Given the description of an element on the screen output the (x, y) to click on. 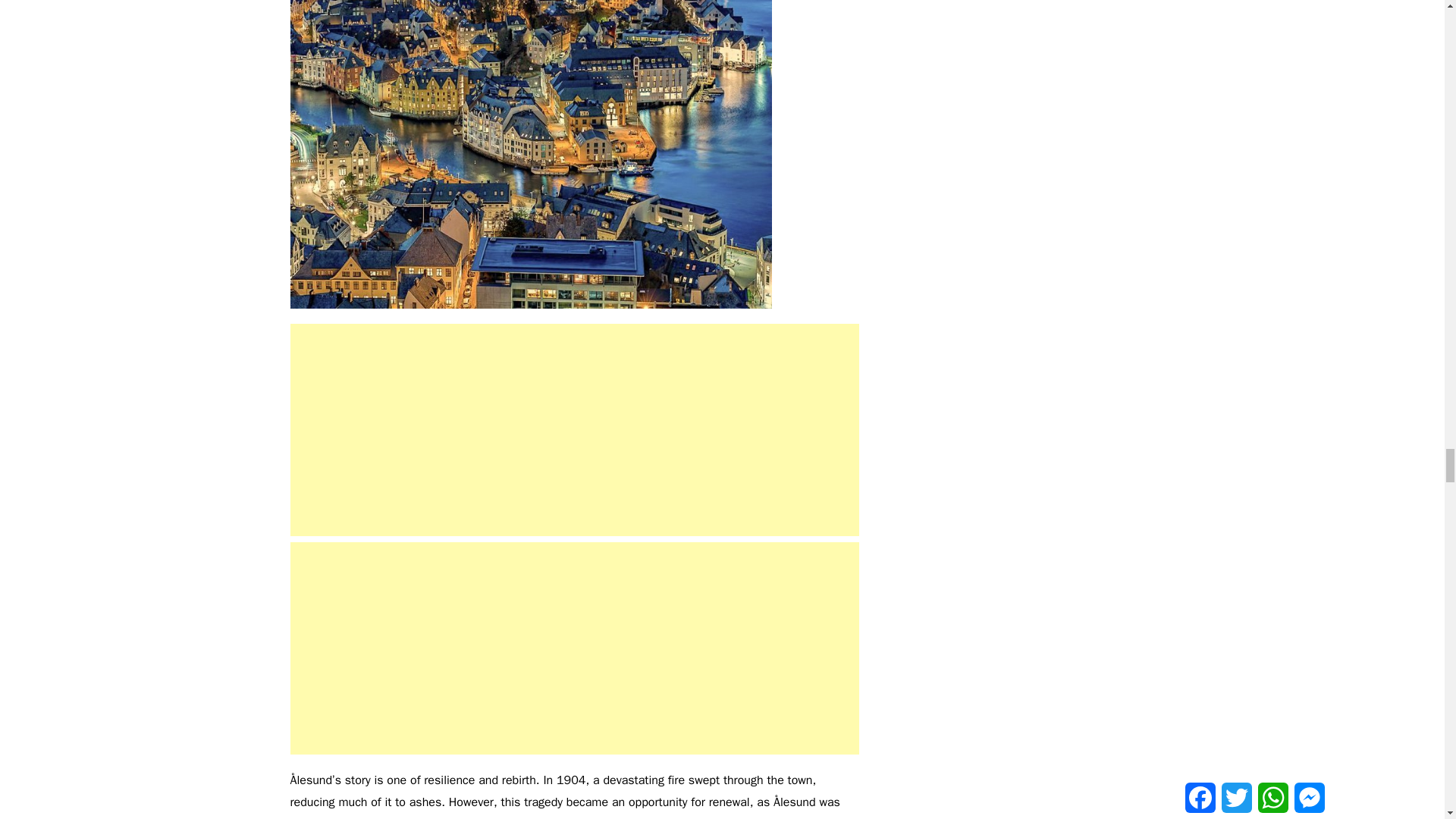
Advertisement (574, 429)
Advertisement (574, 648)
